Given the description of an element on the screen output the (x, y) to click on. 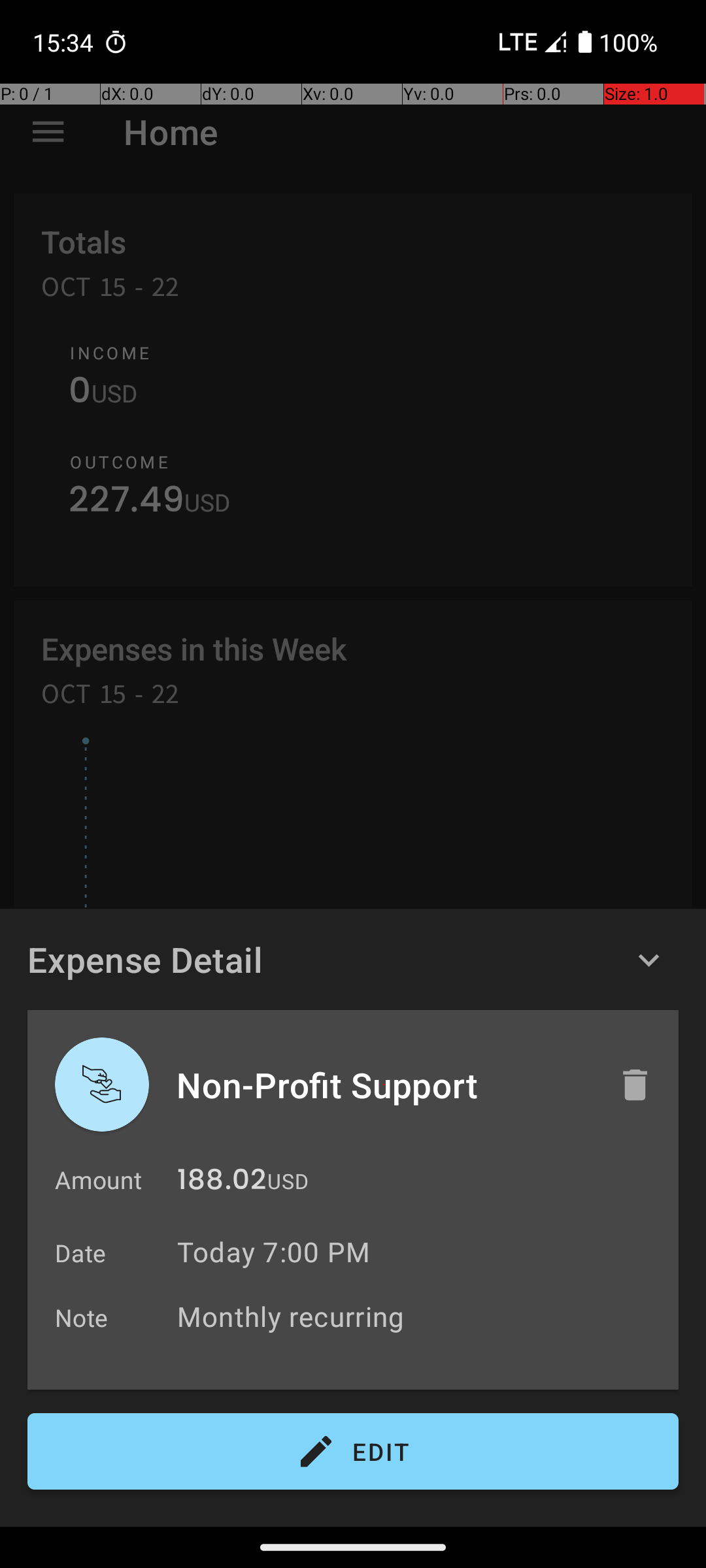
Non-Profit Support Element type: android.widget.TextView (383, 1084)
188.02 Element type: android.widget.TextView (221, 1182)
